Given the description of an element on the screen output the (x, y) to click on. 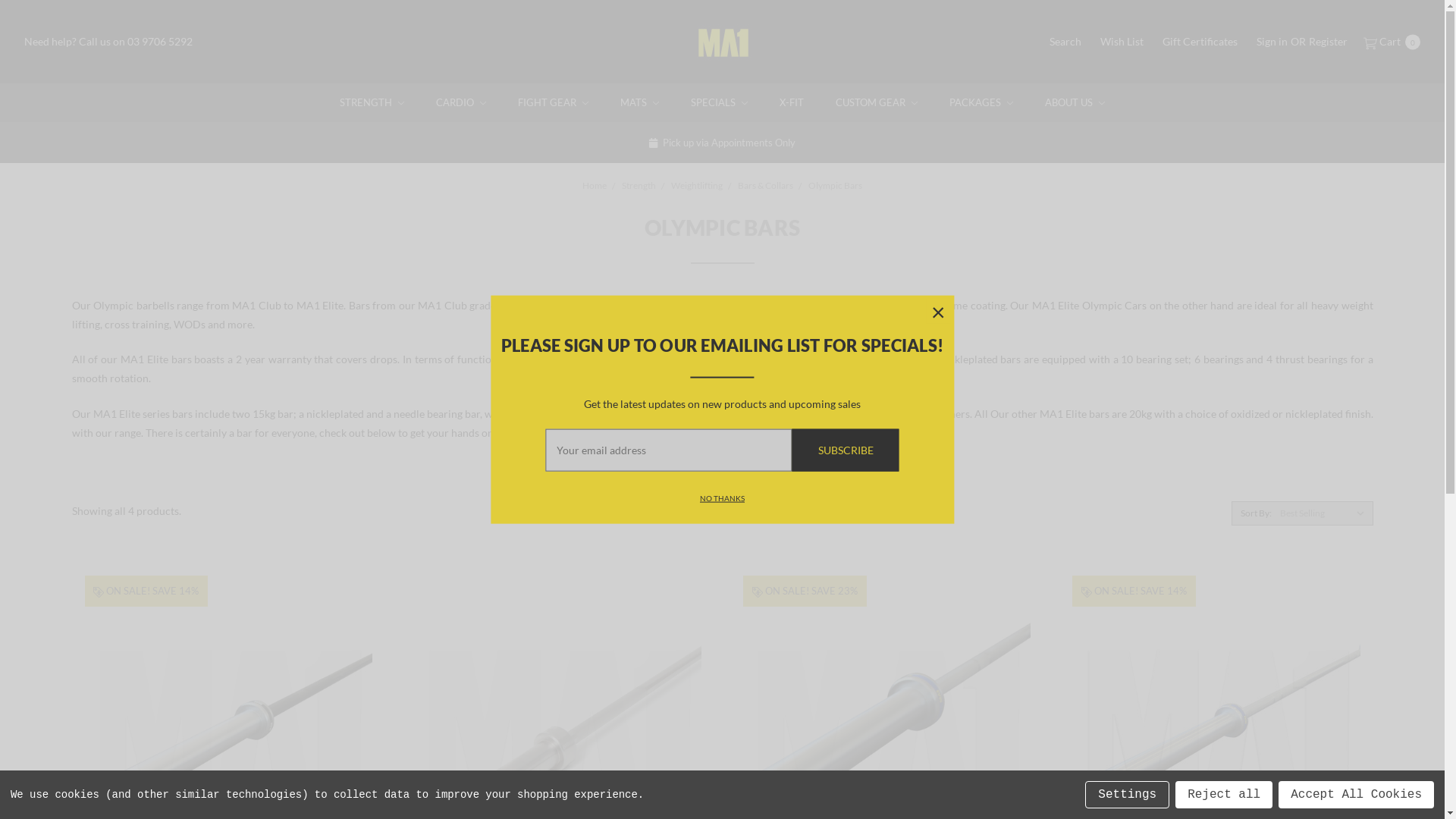
Gift Certificates Element type: text (1199, 41)
Weightlifting Element type: text (696, 185)
Cart 0 Element type: text (1390, 41)
CARDIO Element type: text (461, 102)
Reject all Element type: text (1223, 794)
Olympic Bars Element type: text (835, 185)
MATS Element type: text (639, 102)
Search Element type: text (1065, 41)
Need help? Call us on 03 9706 5292 Element type: text (107, 41)
Register Element type: text (1327, 41)
Bars & Collars Element type: text (765, 185)
Settings Element type: text (1127, 794)
MA1 Element type: hover (721, 43)
Home Element type: text (594, 185)
Accept All Cookies Element type: text (1356, 794)
CUSTOM GEAR Element type: text (876, 102)
PACKAGES Element type: text (981, 102)
Subscribe Element type: text (845, 449)
Sign in Element type: text (1271, 41)
Strength Element type: text (638, 185)
NO THANKS Element type: text (721, 497)
Pick up via Appointments Only Element type: text (722, 142)
Wish List Element type: text (1121, 41)
X-FIT Element type: text (791, 102)
STRENGTH Element type: text (371, 102)
SPECIALS Element type: text (718, 102)
ABOUT US Element type: text (1074, 102)
FIGHT GEAR Element type: text (553, 102)
